Given the description of an element on the screen output the (x, y) to click on. 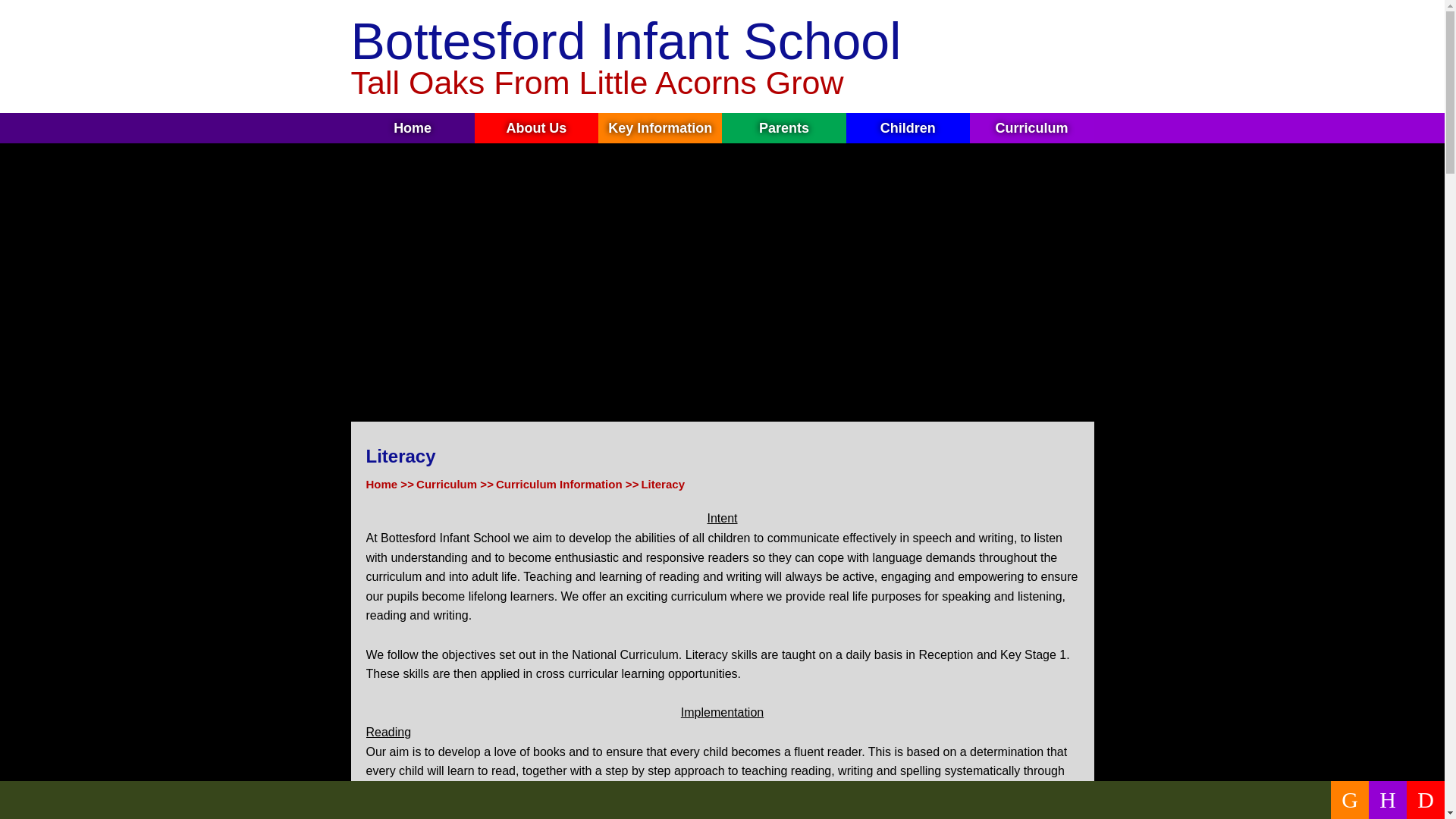
Parents (783, 128)
Home Page (1053, 55)
Home (412, 128)
Key Information (660, 128)
About Us (536, 128)
Home Page (1053, 55)
